Given the description of an element on the screen output the (x, y) to click on. 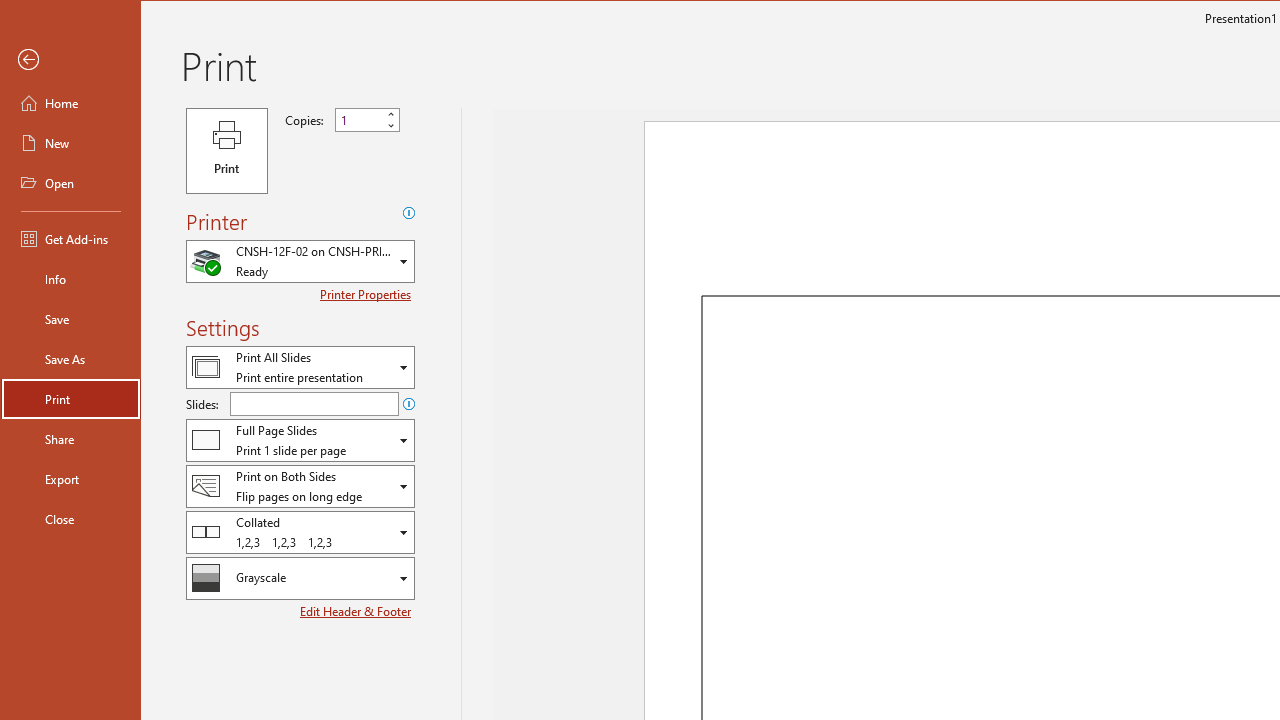
Copies (367, 119)
Two-Sided Printing (299, 486)
Export (70, 478)
Get Add-ins (70, 238)
Info (70, 278)
New (70, 142)
Printer Properties (367, 294)
Slides and Handouts (299, 440)
Copies (358, 119)
